Given the description of an element on the screen output the (x, y) to click on. 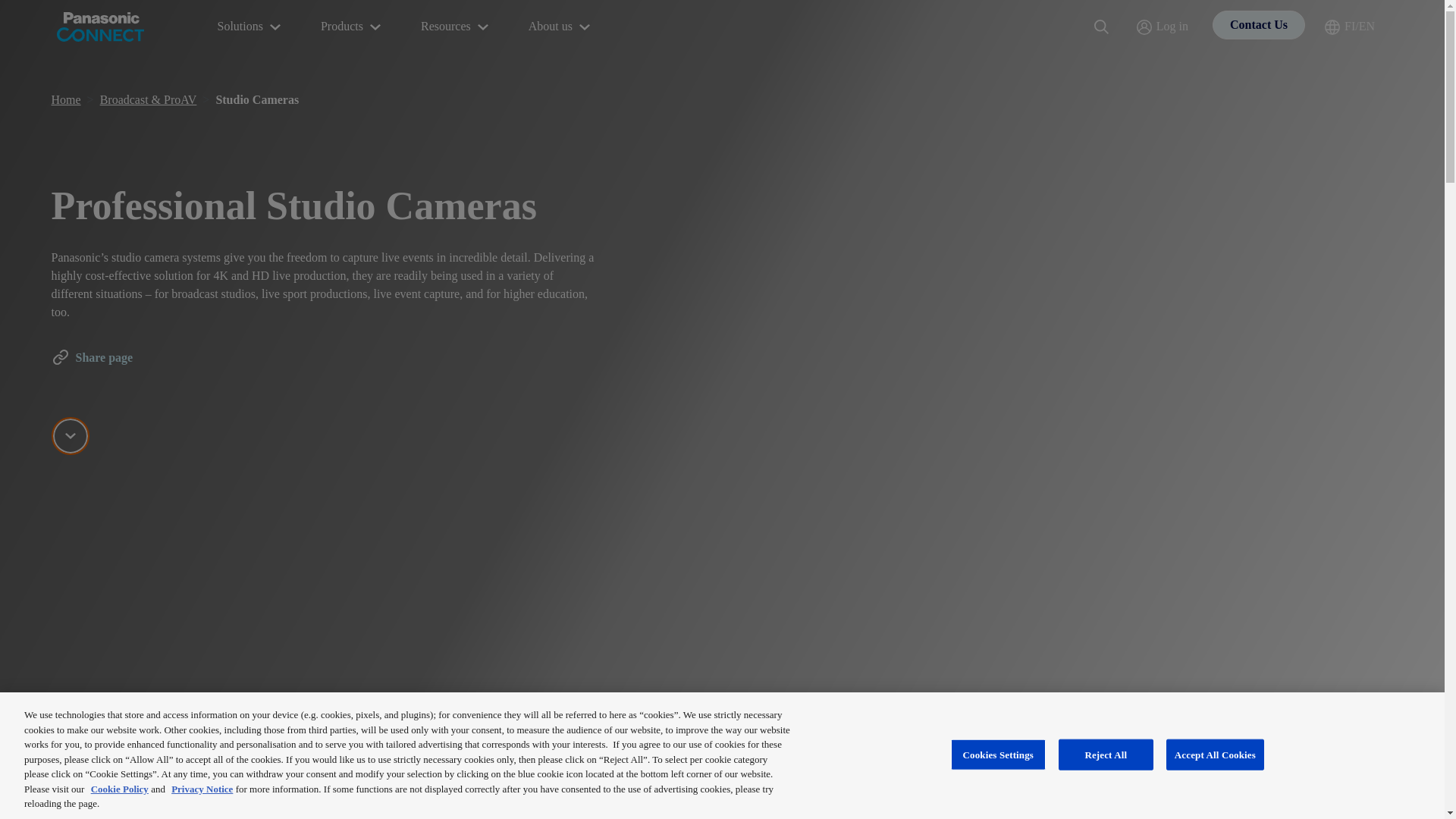
Resources (455, 26)
Products (352, 26)
Solutions (250, 26)
